Given the description of an element on the screen output the (x, y) to click on. 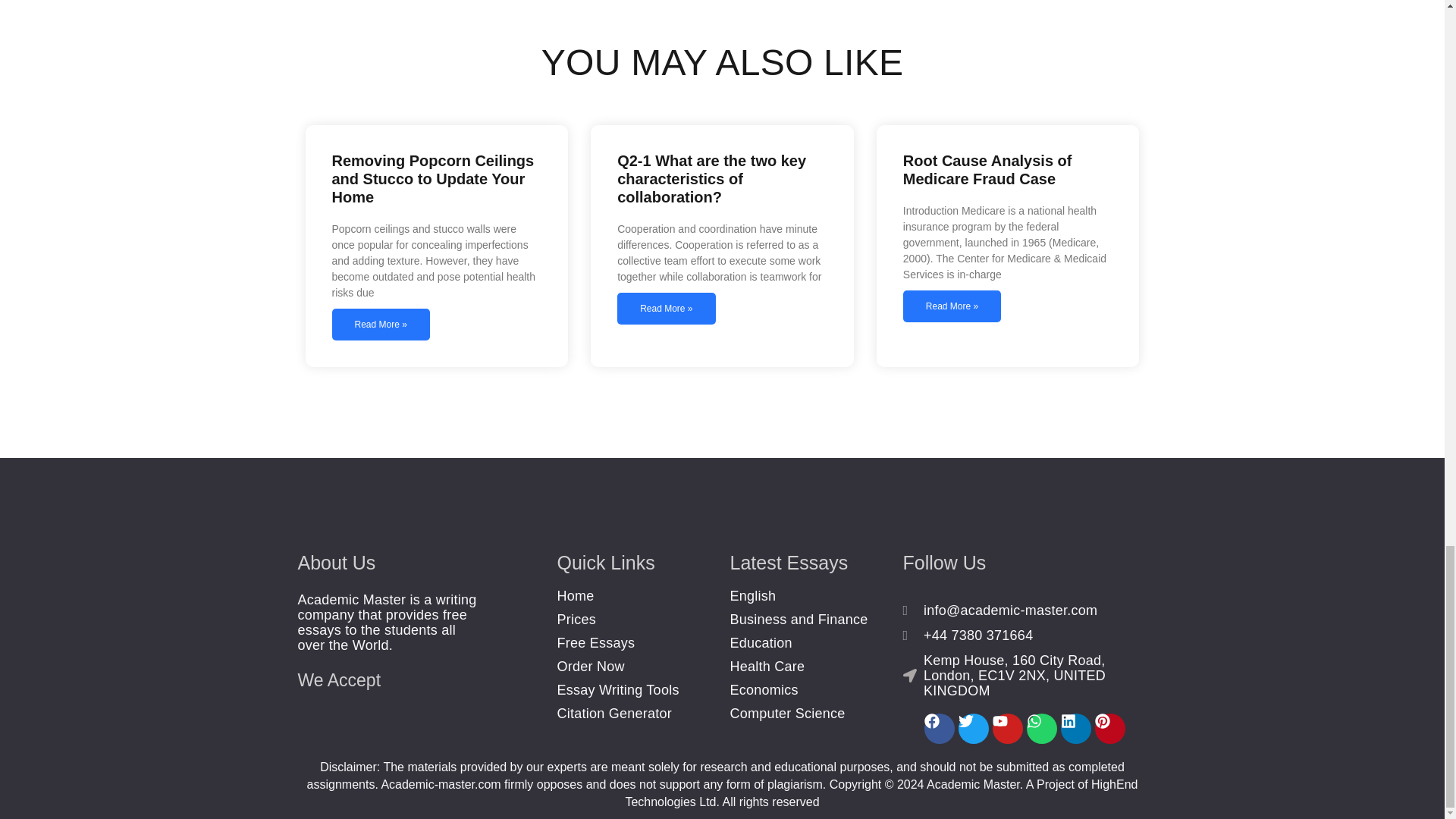
Removing Popcorn Ceilings and Stucco to Update Your Home (432, 178)
Q2-1 What are the two key characteristics of collaboration? (711, 178)
